Given the description of an element on the screen output the (x, y) to click on. 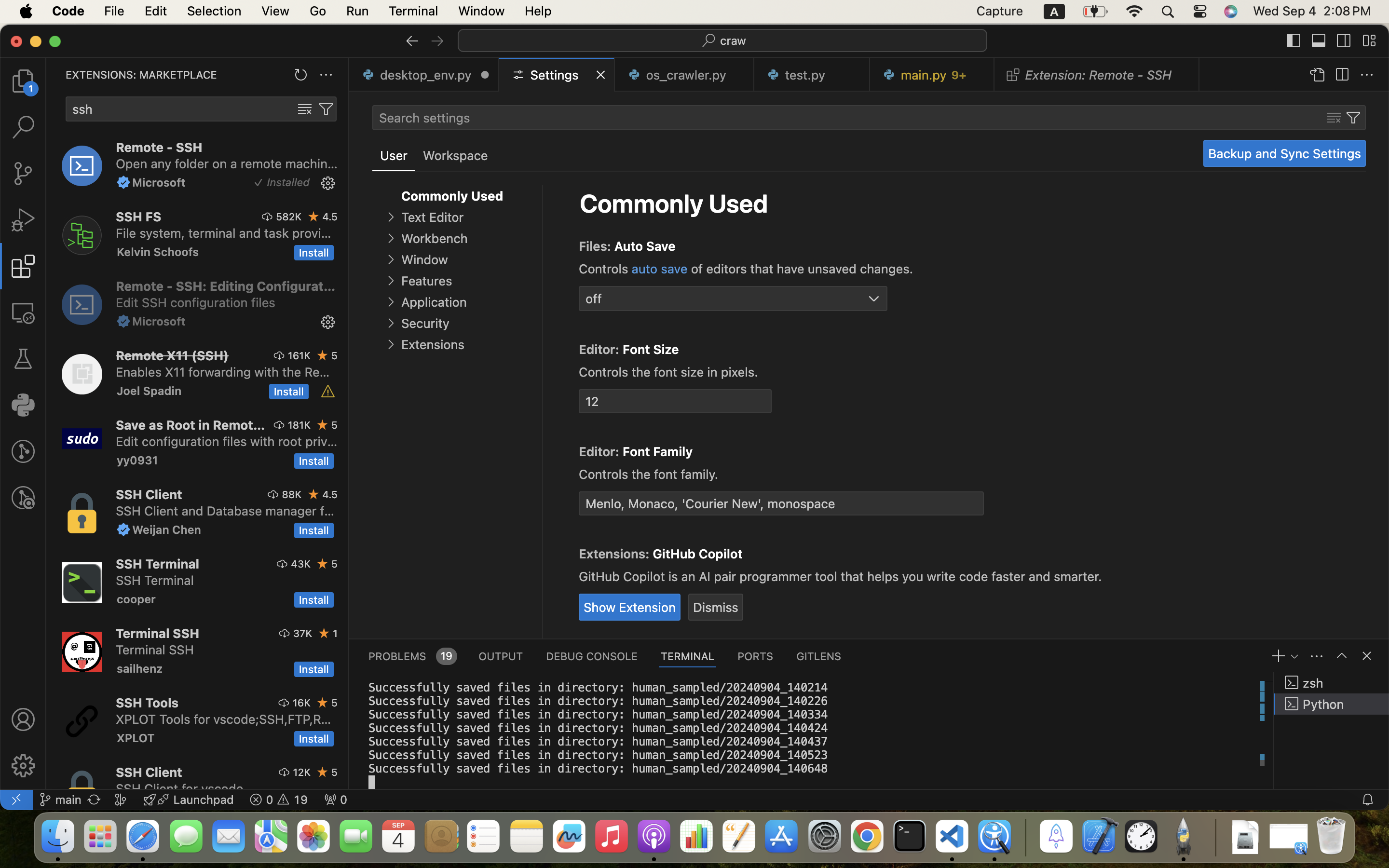
0 OUTPUT Element type: AXRadioButton (500, 655)
Files: Element type: AXStaticText (596, 246)
0  Element type: AXRadioButton (23, 219)
Features Element type: AXStaticText (426, 280)
0 PROBLEMS 19 Element type: AXRadioButton (411, 655)
